Given the description of an element on the screen output the (x, y) to click on. 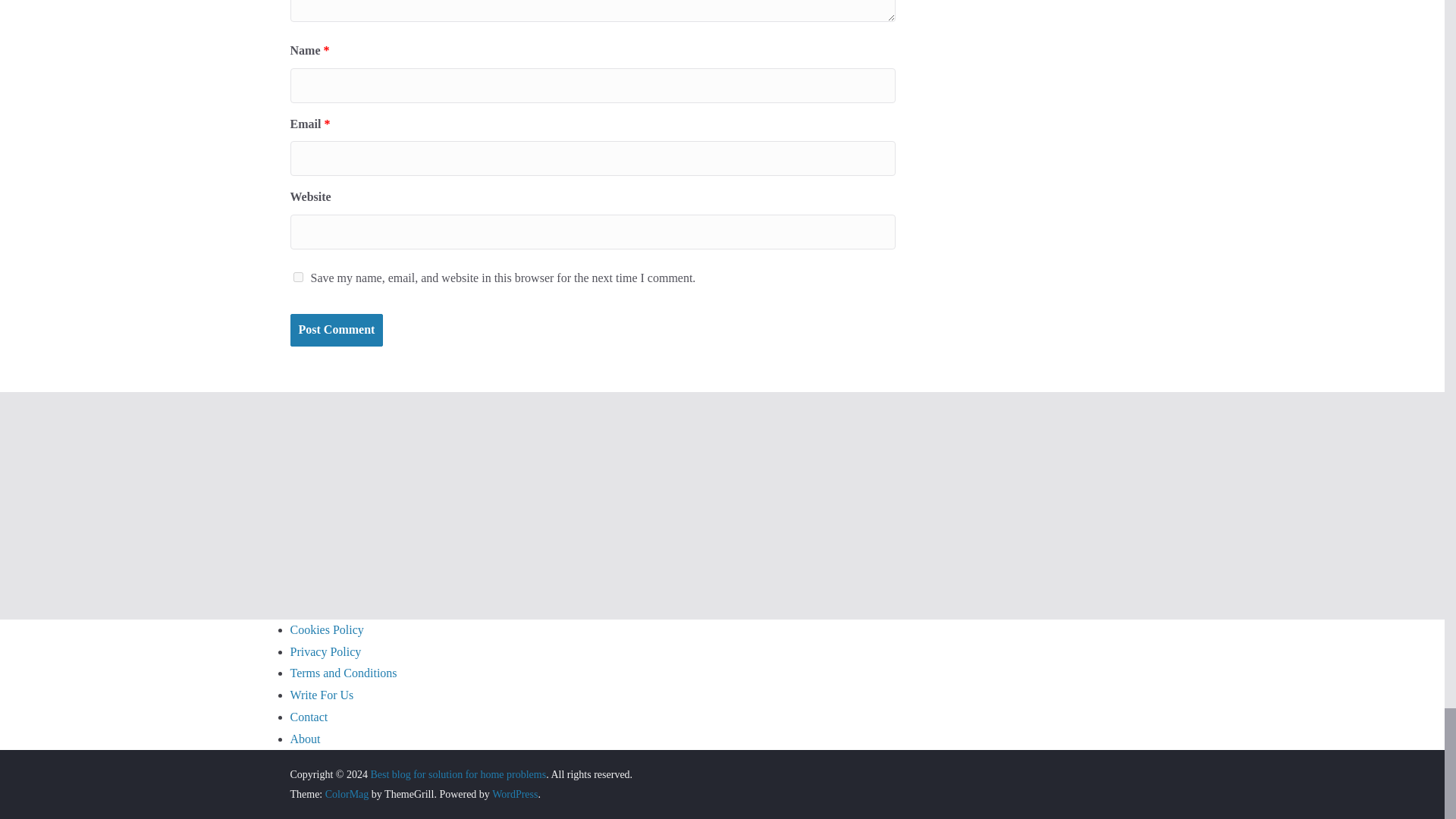
yes (297, 276)
Post Comment (335, 329)
